Given the description of an element on the screen output the (x, y) to click on. 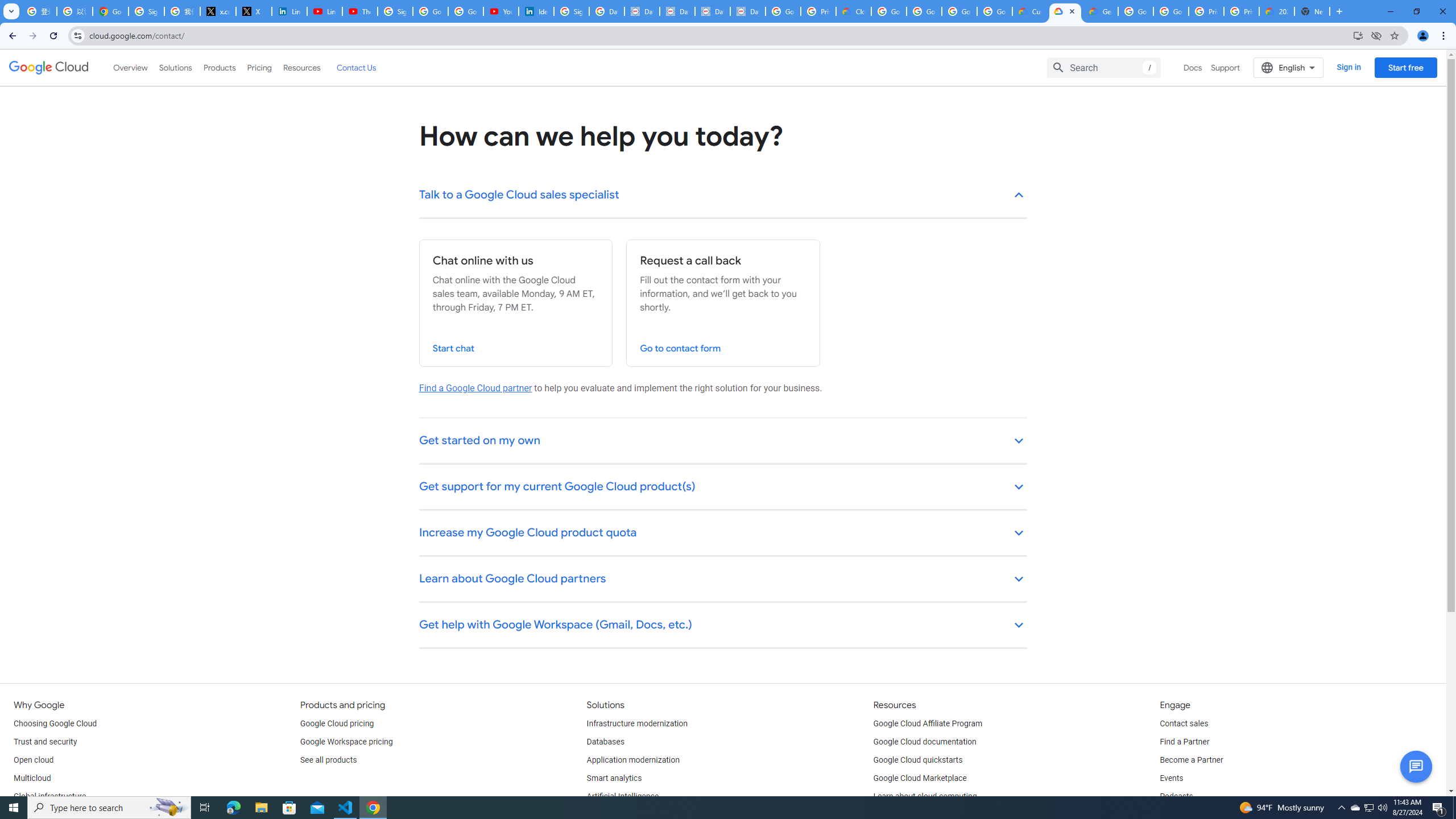
Find a Partner (1183, 742)
Learn about Google Cloud partners keyboard_arrow_down (723, 579)
Data Privacy Framework (712, 11)
Application modernization (632, 760)
Gemini for Business and Developers | Google Cloud (1099, 11)
Infrastructure modernization (637, 723)
Databases (605, 742)
Google Cloud pricing (336, 723)
